Given the description of an element on the screen output the (x, y) to click on. 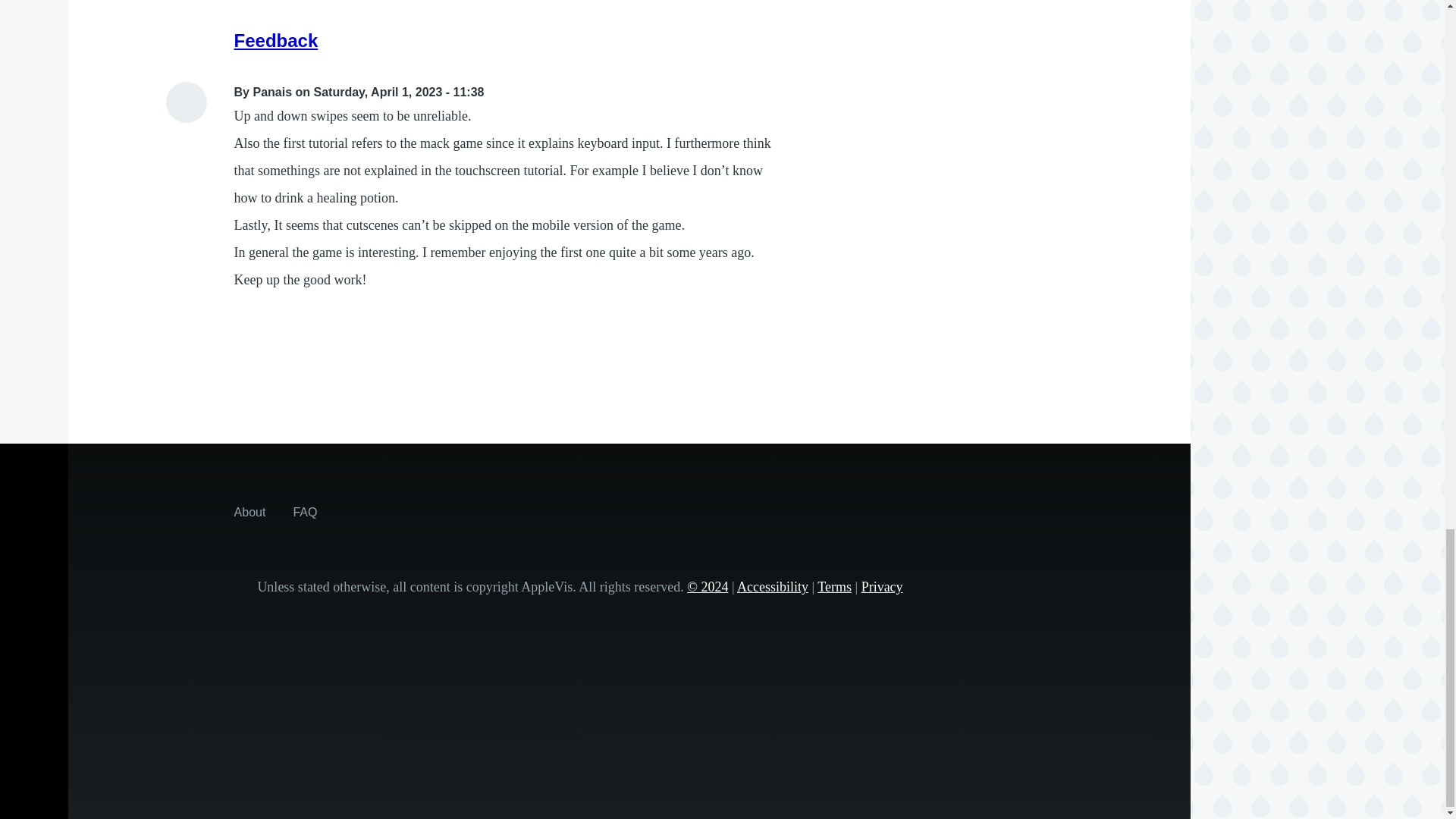
Accessibility (772, 586)
FAQ (304, 511)
Privacy (881, 586)
Feedback (276, 40)
Terms (833, 586)
About (250, 511)
Answers to some frequently asked questions about AppleVis (304, 511)
About (250, 511)
